Given the description of an element on the screen output the (x, y) to click on. 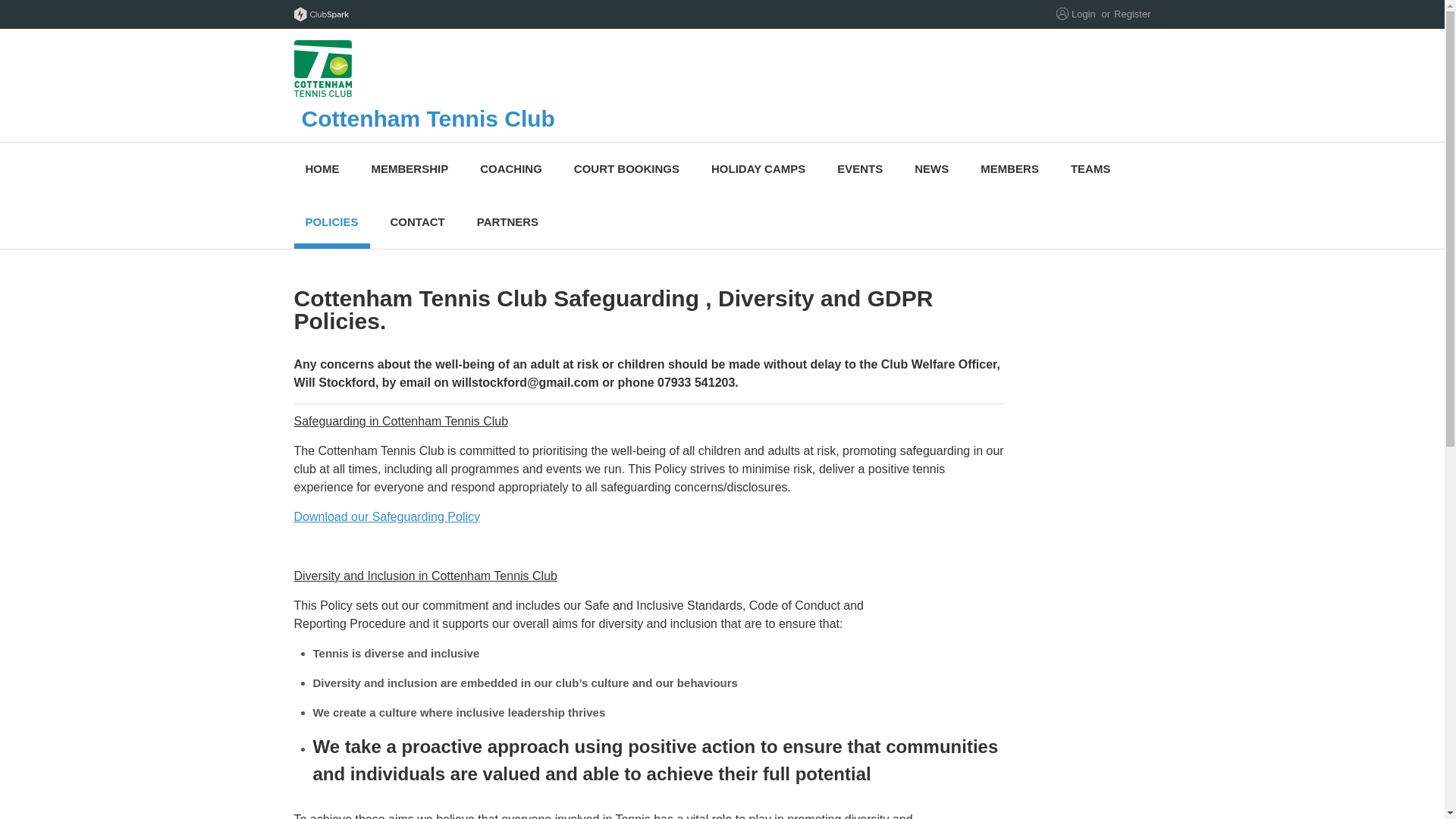
TEAMS (1090, 168)
Register (1131, 13)
NEWS (930, 168)
MEMBERSHIP (409, 168)
HOLIDAY CAMPS (758, 168)
ClubSpark (508, 14)
COACHING (510, 168)
MEMBERS (1009, 168)
Cottenham Tennis Club (593, 84)
COURT BOOKINGS (626, 168)
CONTACT (417, 221)
POLICIES (331, 221)
PARTNERS (507, 221)
EVENTS (859, 168)
HOME (322, 168)
